Given the description of an element on the screen output the (x, y) to click on. 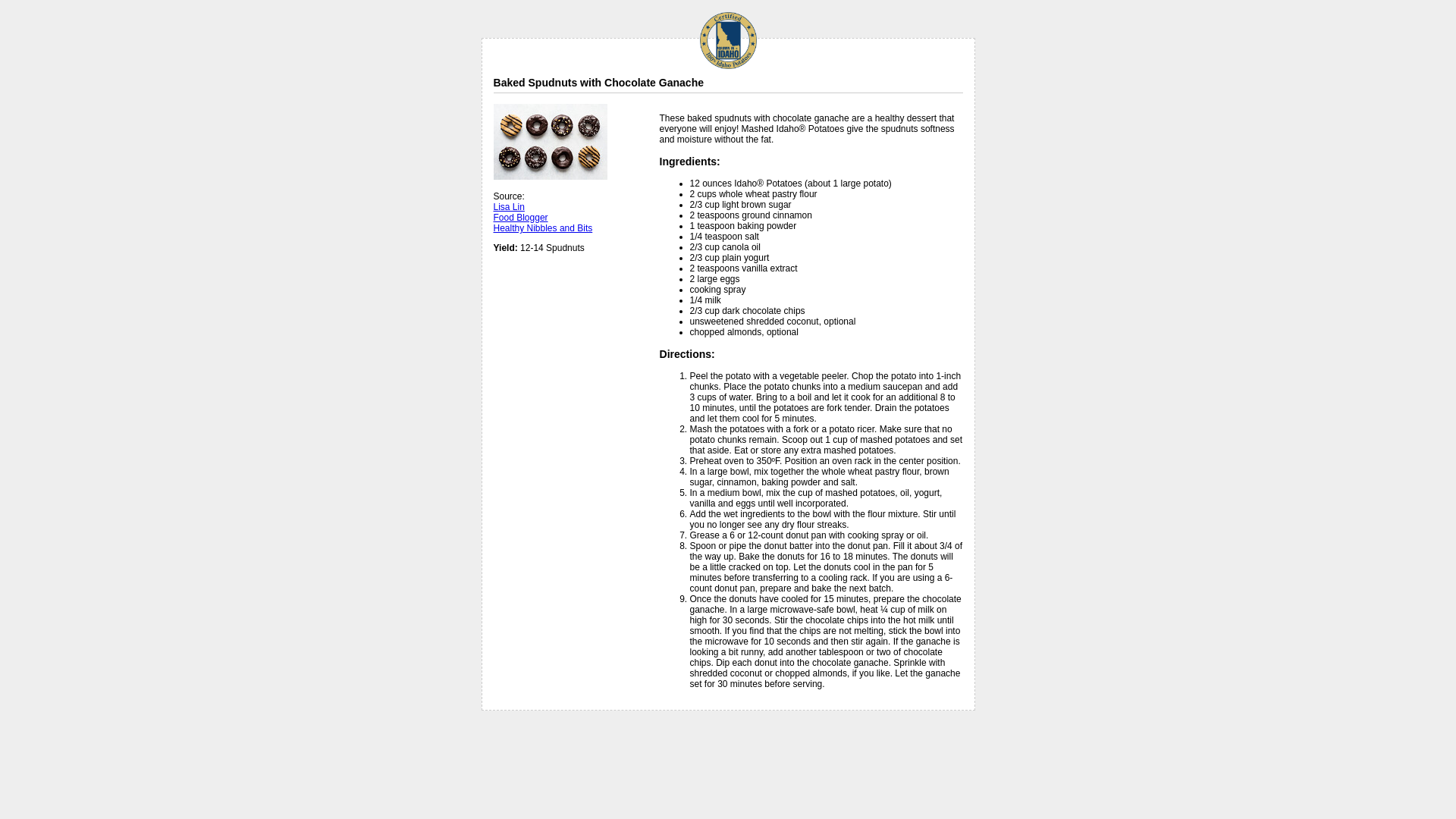
Food Blogger (520, 217)
Lisa Lin (508, 206)
Healthy Nibbles and Bits (542, 227)
